Given the description of an element on the screen output the (x, y) to click on. 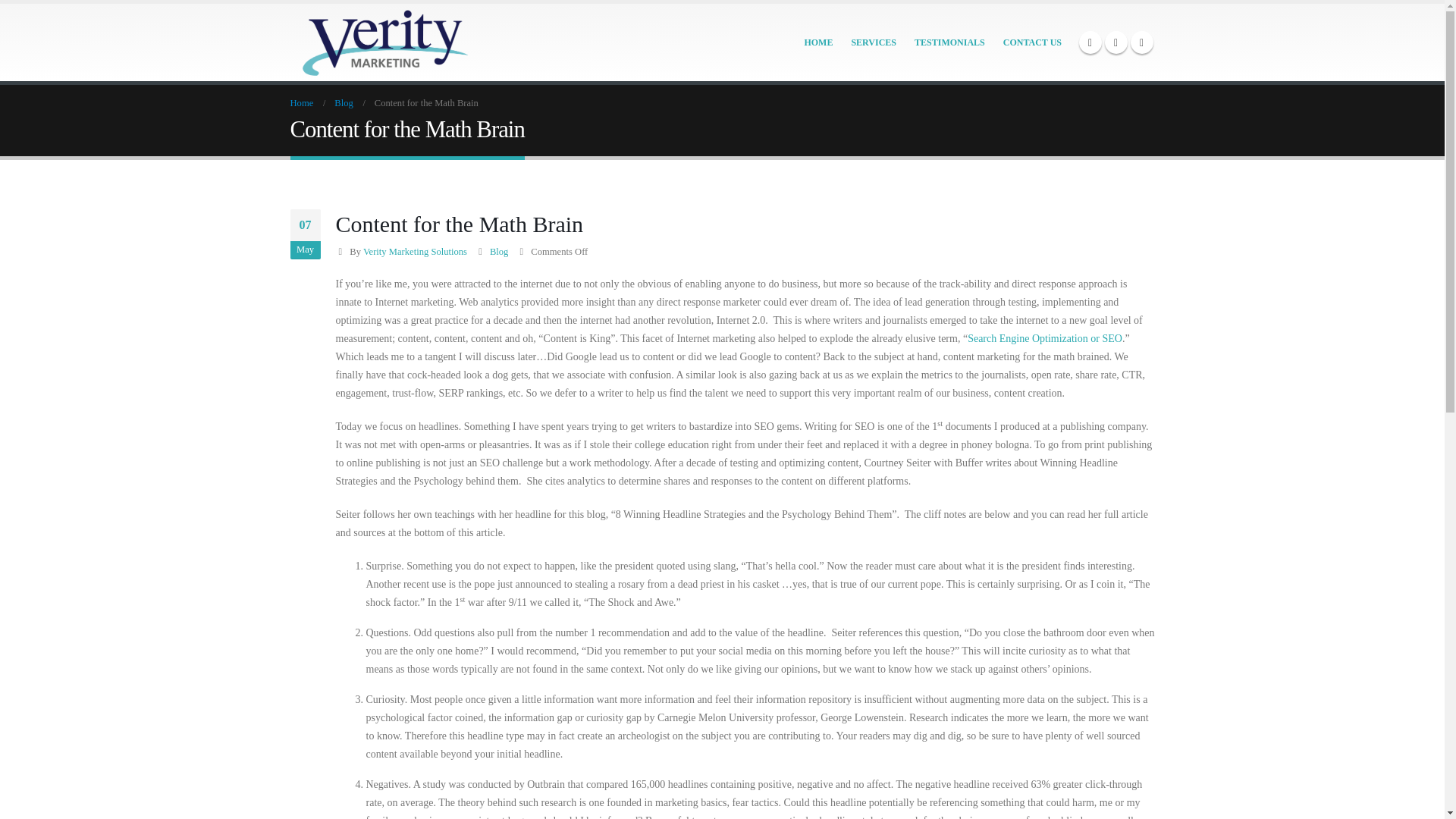
LinkedIn (1141, 42)
Posts by Verity Marketing Solutions (414, 251)
CONTACT US (1032, 42)
Blog (498, 251)
Home (301, 103)
Twitter (1114, 42)
Facebook (1089, 42)
Orange County Ad Agency - The Honest Agency (384, 42)
Search Engine Optimization or SEO (1045, 337)
Search Engine Optimization Quick Reference Guide (1045, 337)
